Given the description of an element on the screen output the (x, y) to click on. 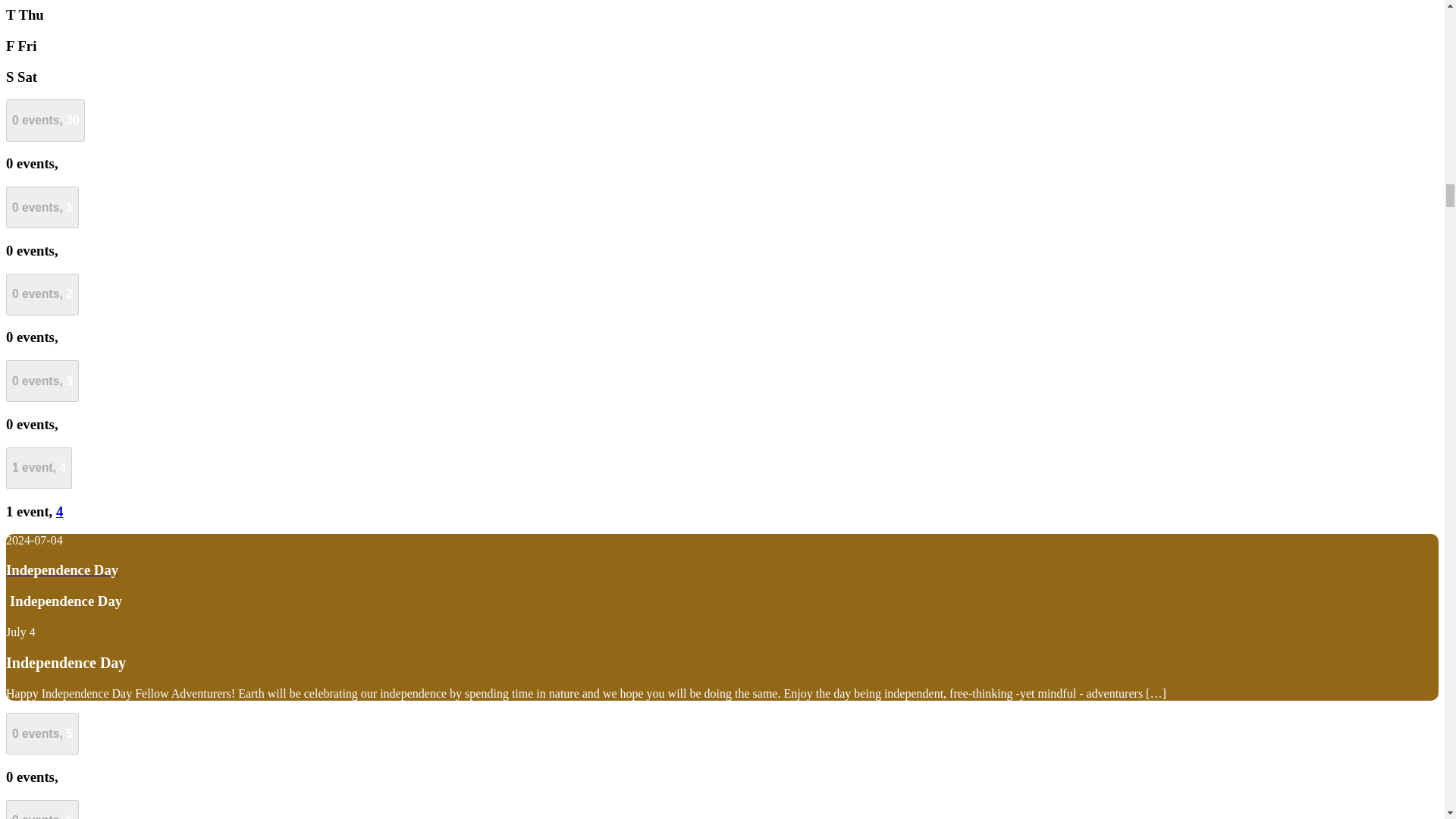
0 events, 30 (44, 119)
0 events, 2 (41, 294)
0 events, 3 (41, 381)
0 events, 6 (41, 809)
0 events, 5 (41, 733)
Independence Day (65, 662)
0 events, 1 (41, 207)
1 event, 4 (38, 467)
Independence Day (65, 662)
